Given the description of an element on the screen output the (x, y) to click on. 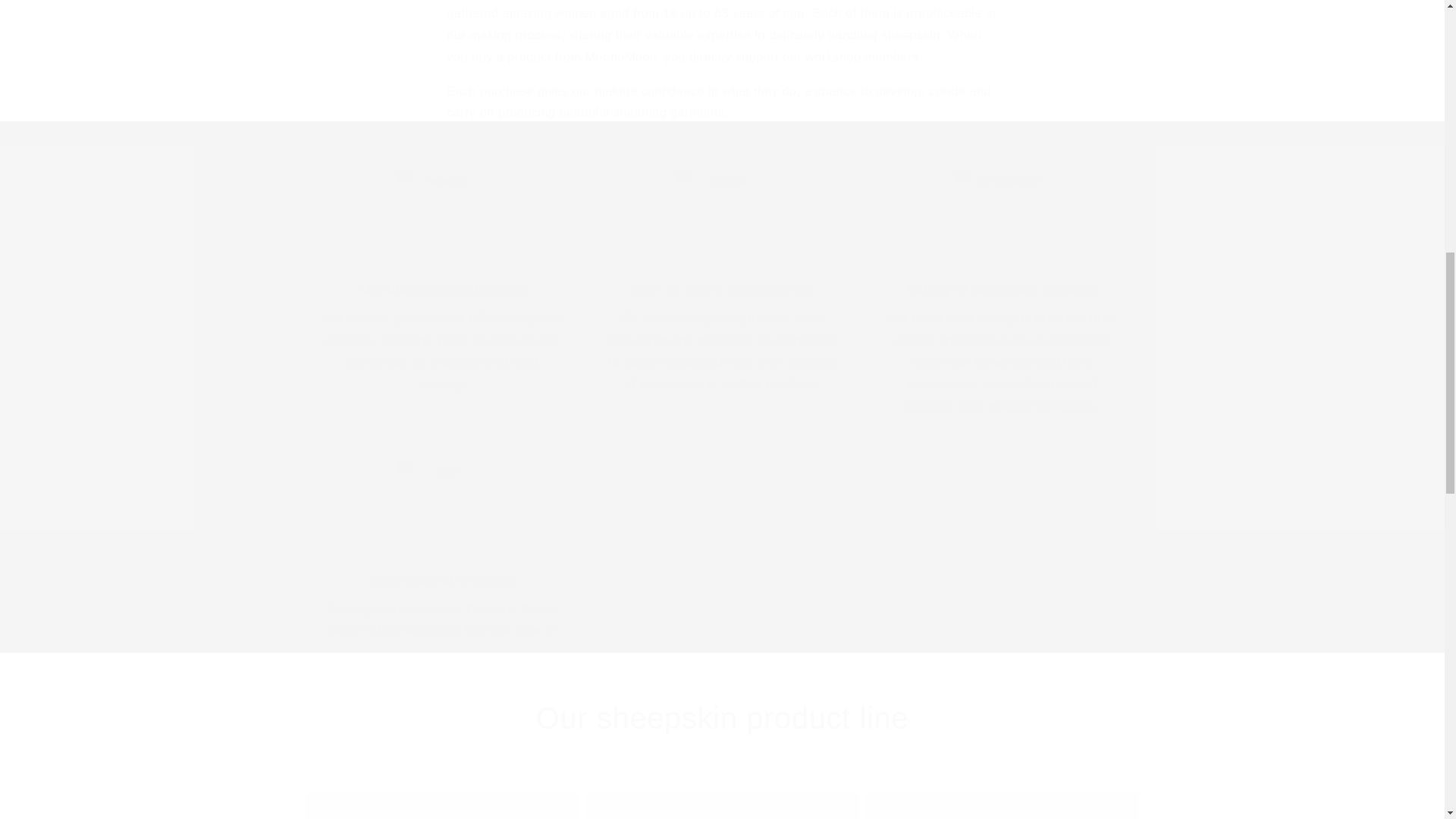
Your collection's name (1001, 805)
Our sheepskin product line (721, 717)
All Men's Sheepskin Products (441, 805)
Women's Sheepskin Vests (722, 805)
